Given the description of an element on the screen output the (x, y) to click on. 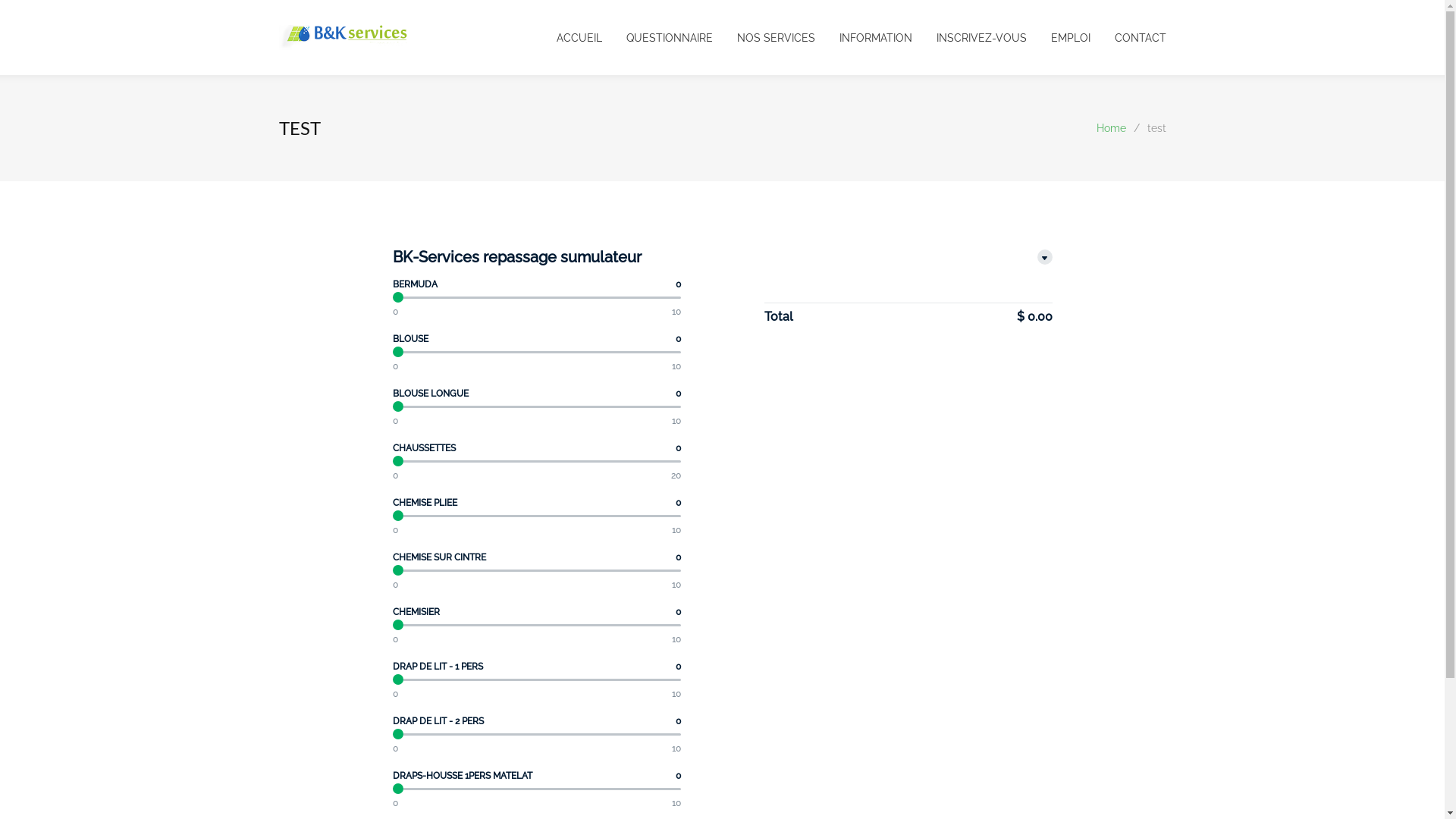
NOS SERVICES Element type: text (763, 37)
CONTACT Element type: text (1128, 37)
INFORMATION Element type: text (862, 37)
EMPLOI Element type: text (1058, 37)
Home Element type: text (1111, 128)
QUESTIONNAIRE Element type: text (657, 37)
INSCRIVEZ-VOUS Element type: text (968, 37)
ACCUEIL Element type: text (579, 37)
